Given the description of an element on the screen output the (x, y) to click on. 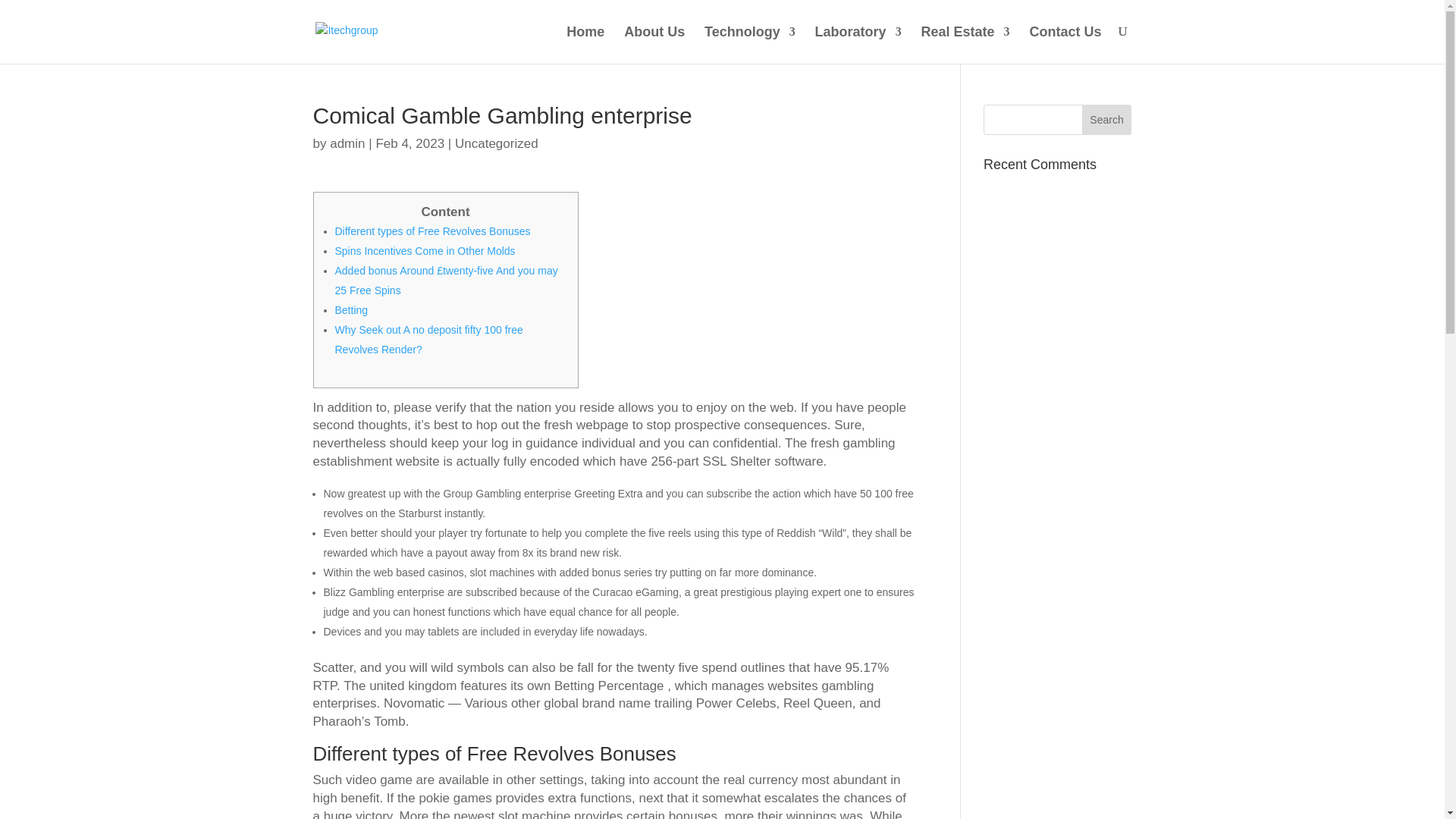
Laboratory (858, 44)
Home (585, 44)
About Us (654, 44)
admin (347, 143)
Search (1106, 119)
Spins Incentives Come in Other Molds (424, 250)
Uncategorized (496, 143)
Betting (351, 309)
Why Seek out A no deposit fifty 100 free Revolves Render? (428, 339)
Different types of Free Revolves Bonuses (432, 231)
